Given the description of an element on the screen output the (x, y) to click on. 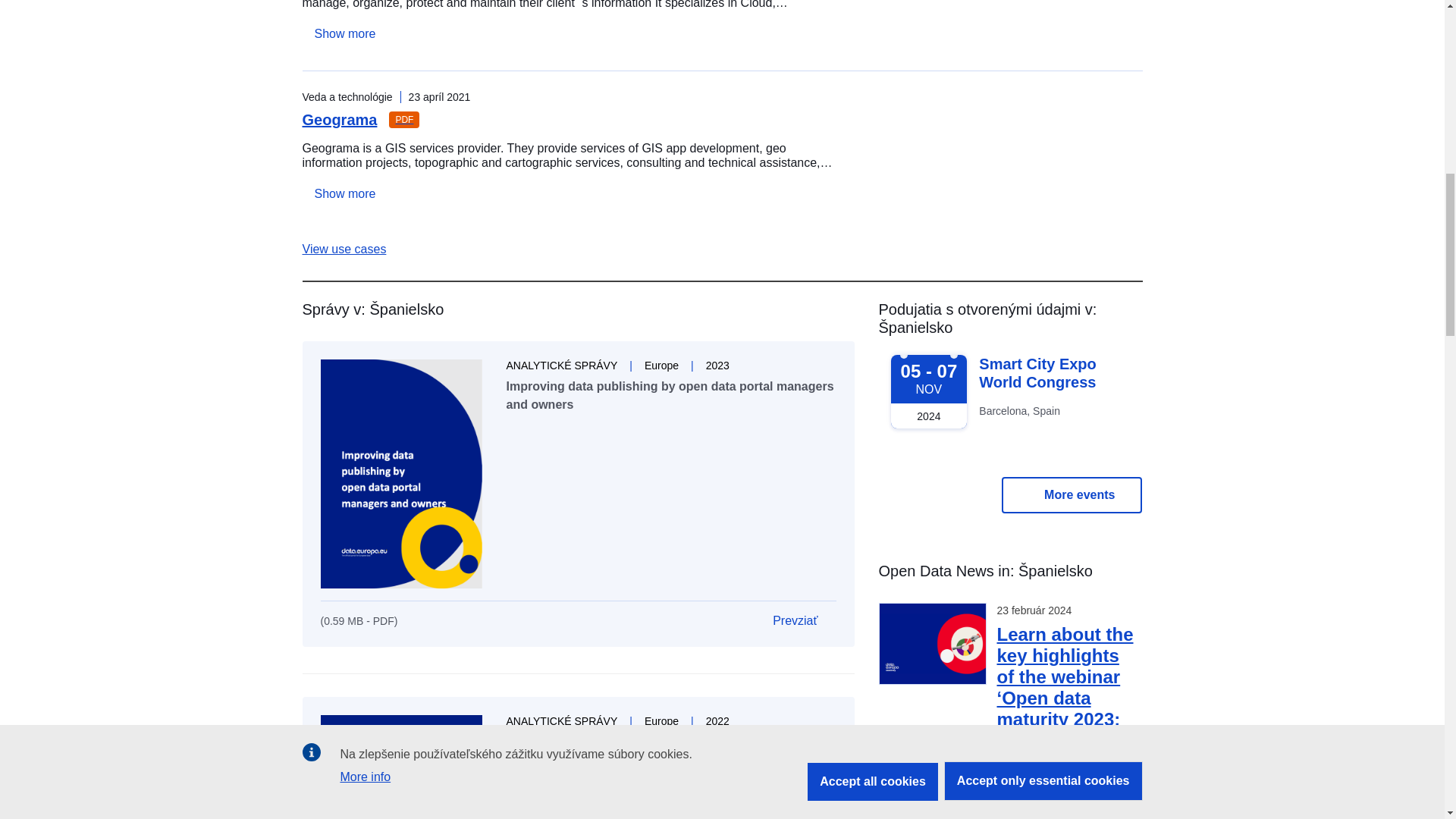
November (927, 392)
